Given the description of an element on the screen output the (x, y) to click on. 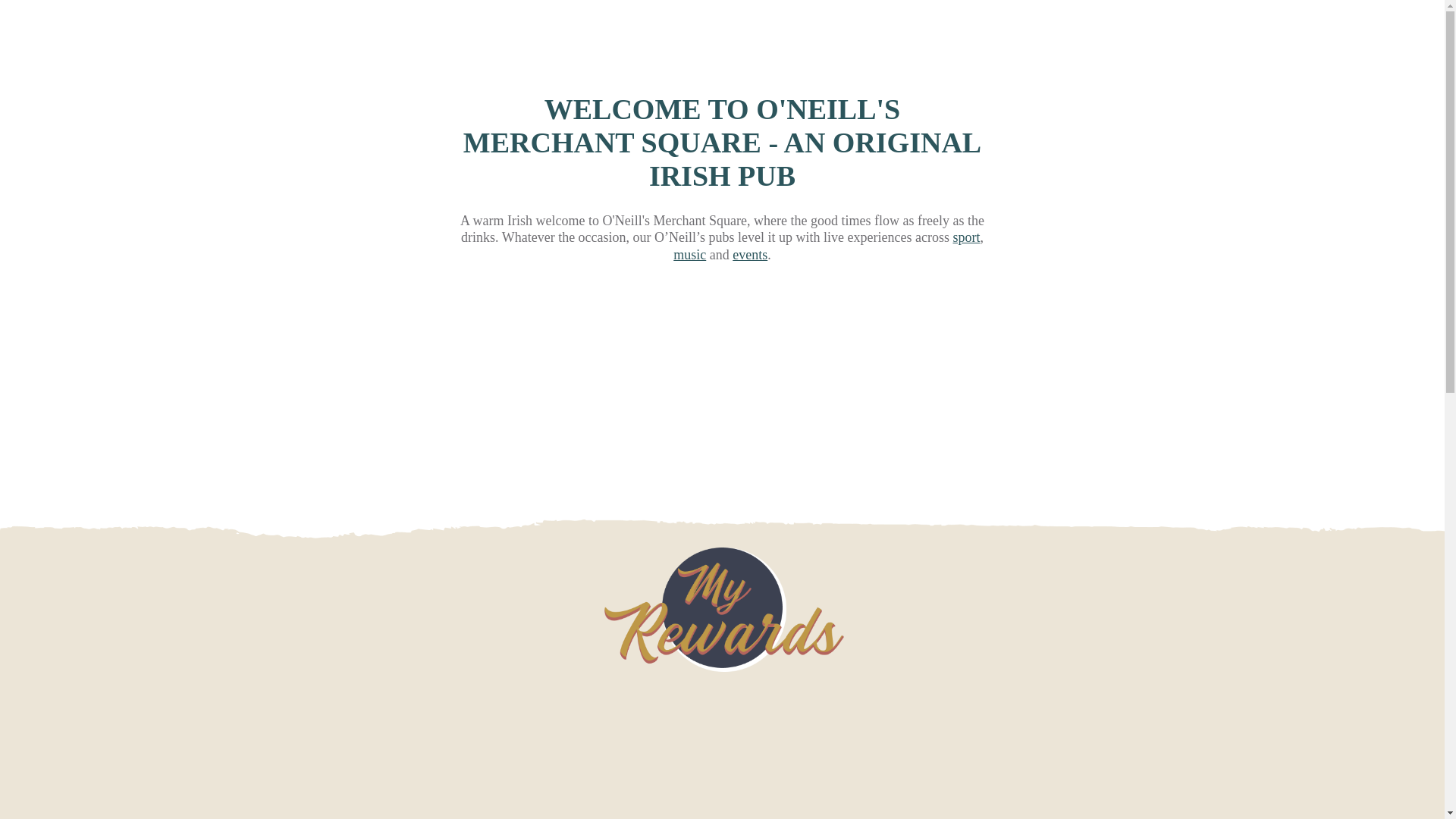
events (749, 254)
sport (965, 237)
music (689, 254)
